Given the description of an element on the screen output the (x, y) to click on. 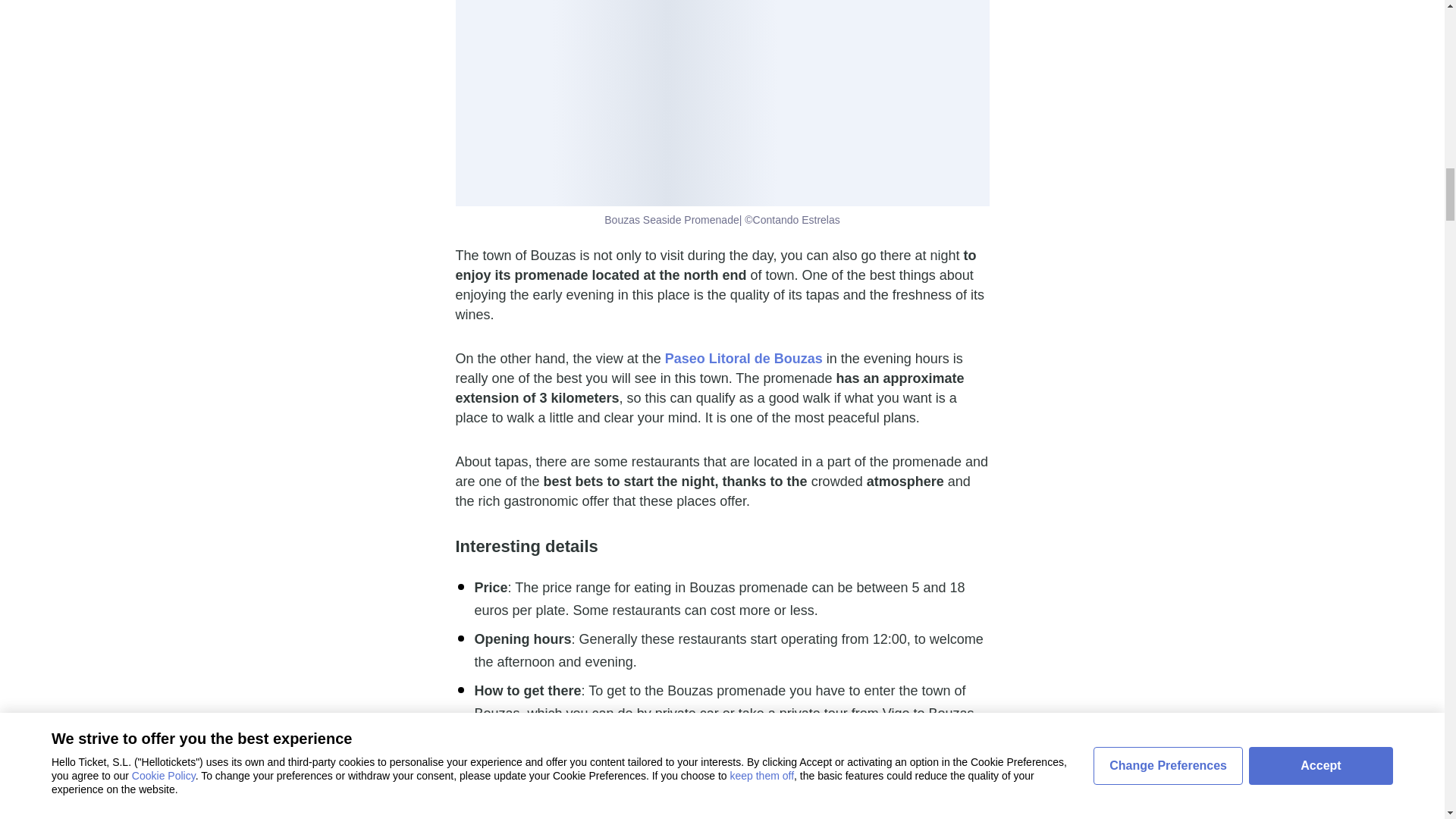
Paseo Litoral de Bouzas (743, 358)
